Given the description of an element on the screen output the (x, y) to click on. 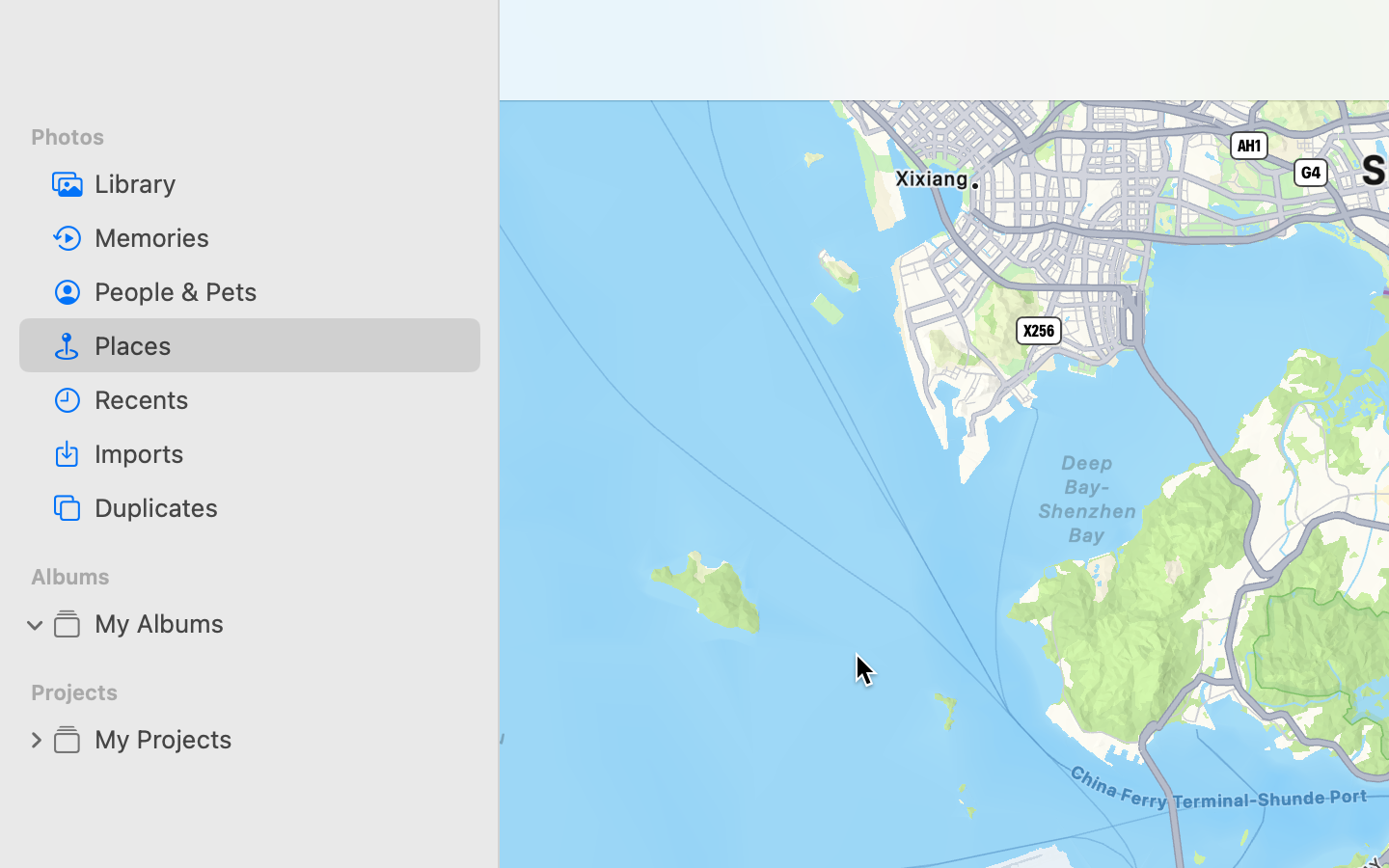
Memories Element type: AXStaticText (279, 236)
Imports Element type: AXStaticText (279, 452)
Albums Element type: AXStaticText (261, 576)
Library Element type: AXStaticText (279, 182)
Places Element type: AXStaticText (279, 344)
